Given the description of an element on the screen output the (x, y) to click on. 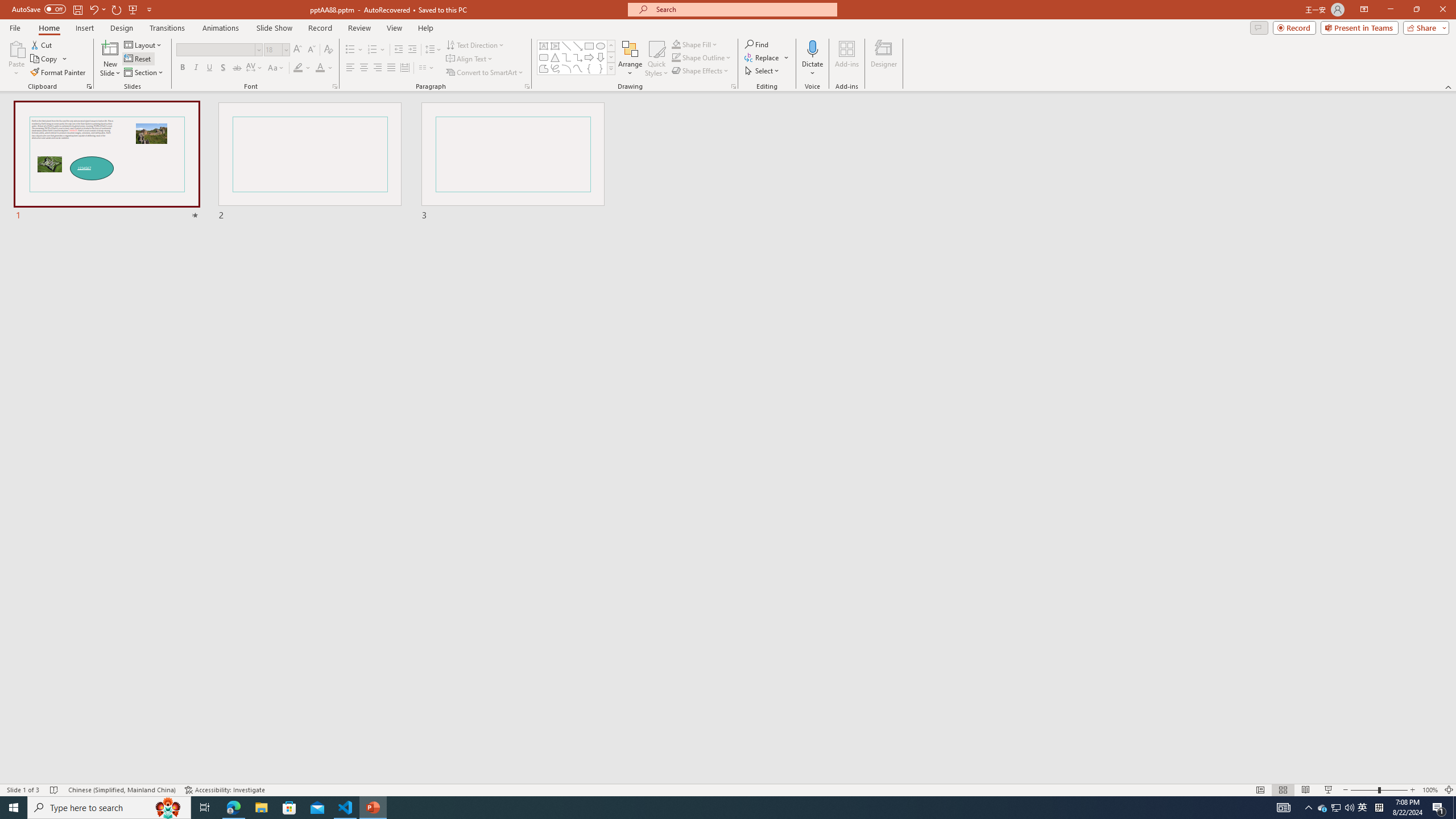
Shape Fill Aqua, Accent 2 (675, 44)
